Given the description of an element on the screen output the (x, y) to click on. 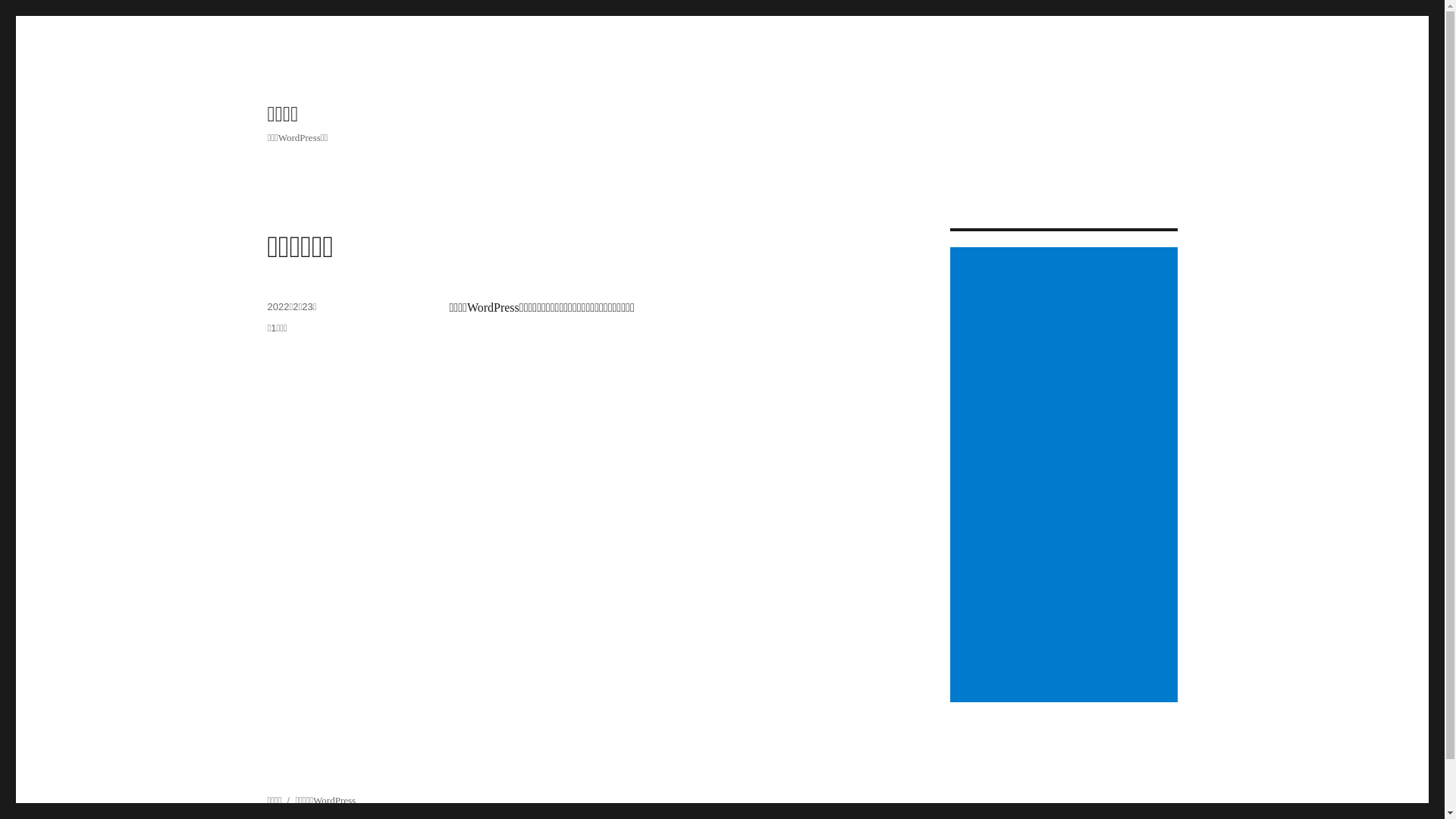
Advertisement Element type: hover (1065, 475)
